Given the description of an element on the screen output the (x, y) to click on. 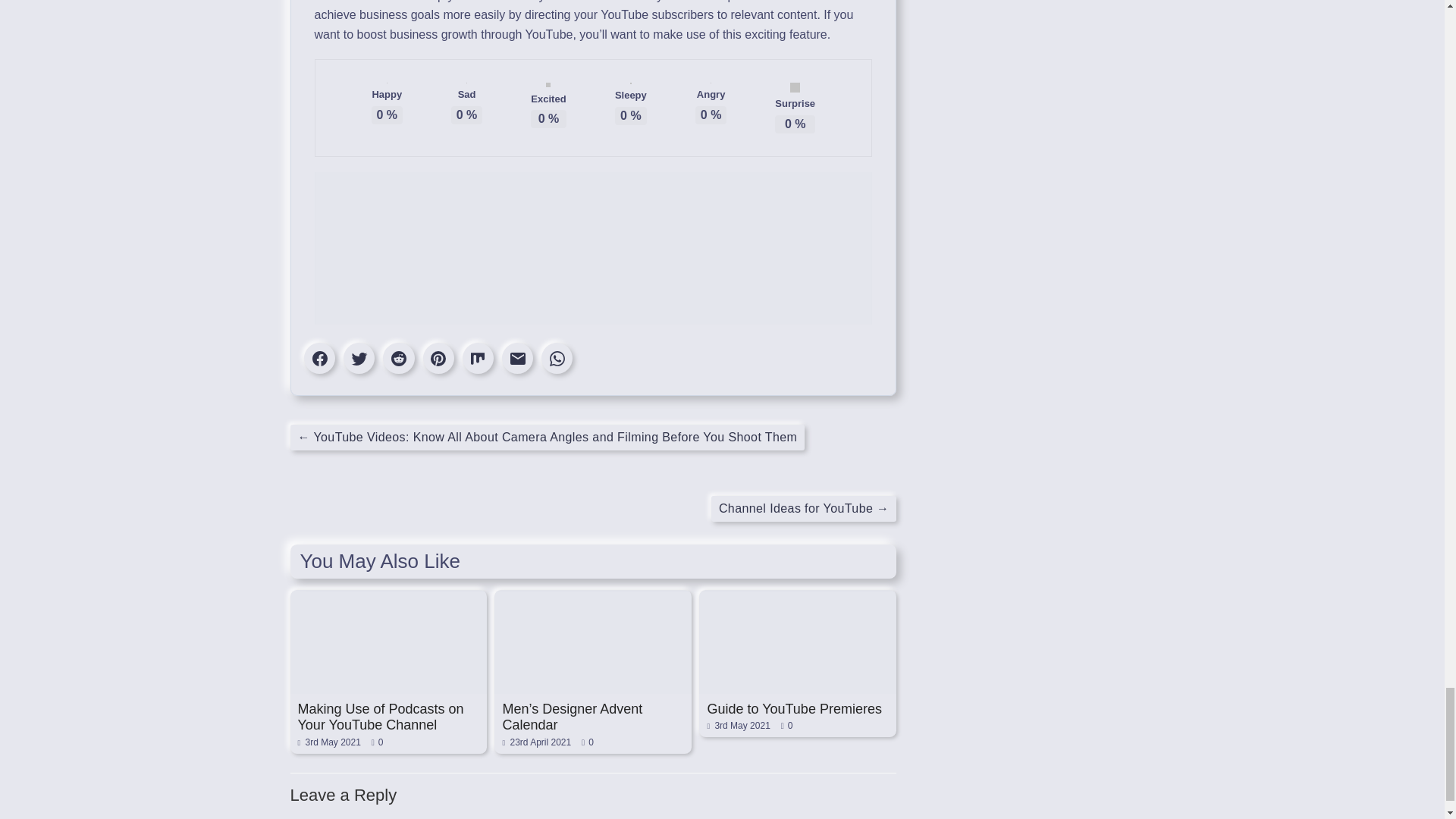
Making Use of Podcasts on Your YouTube Channel (387, 597)
Making Use of Podcasts on Your YouTube Channel (380, 717)
2:14 pm (328, 742)
